Given the description of an element on the screen output the (x, y) to click on. 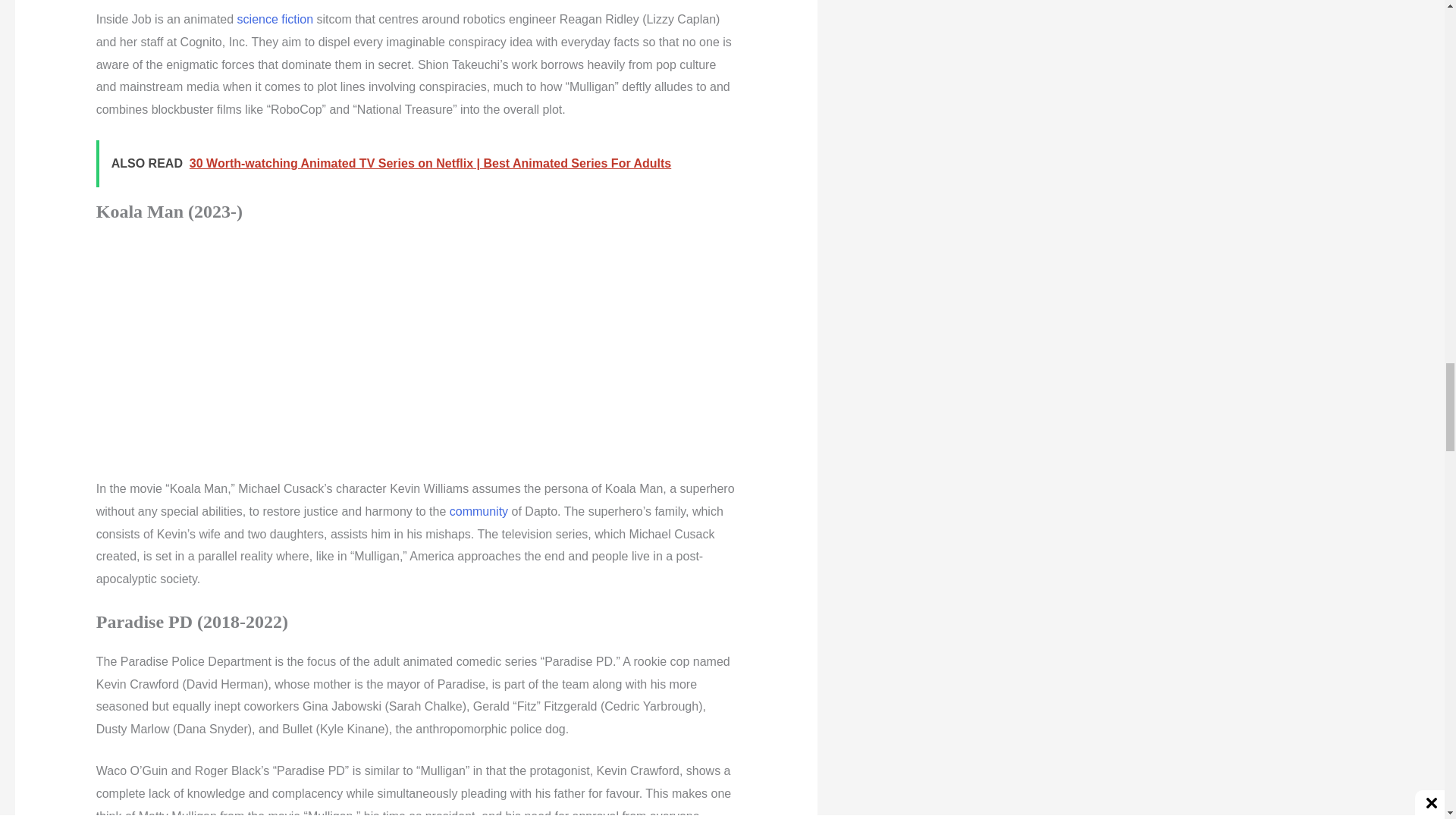
community (478, 511)
science fiction (275, 19)
